Given the description of an element on the screen output the (x, y) to click on. 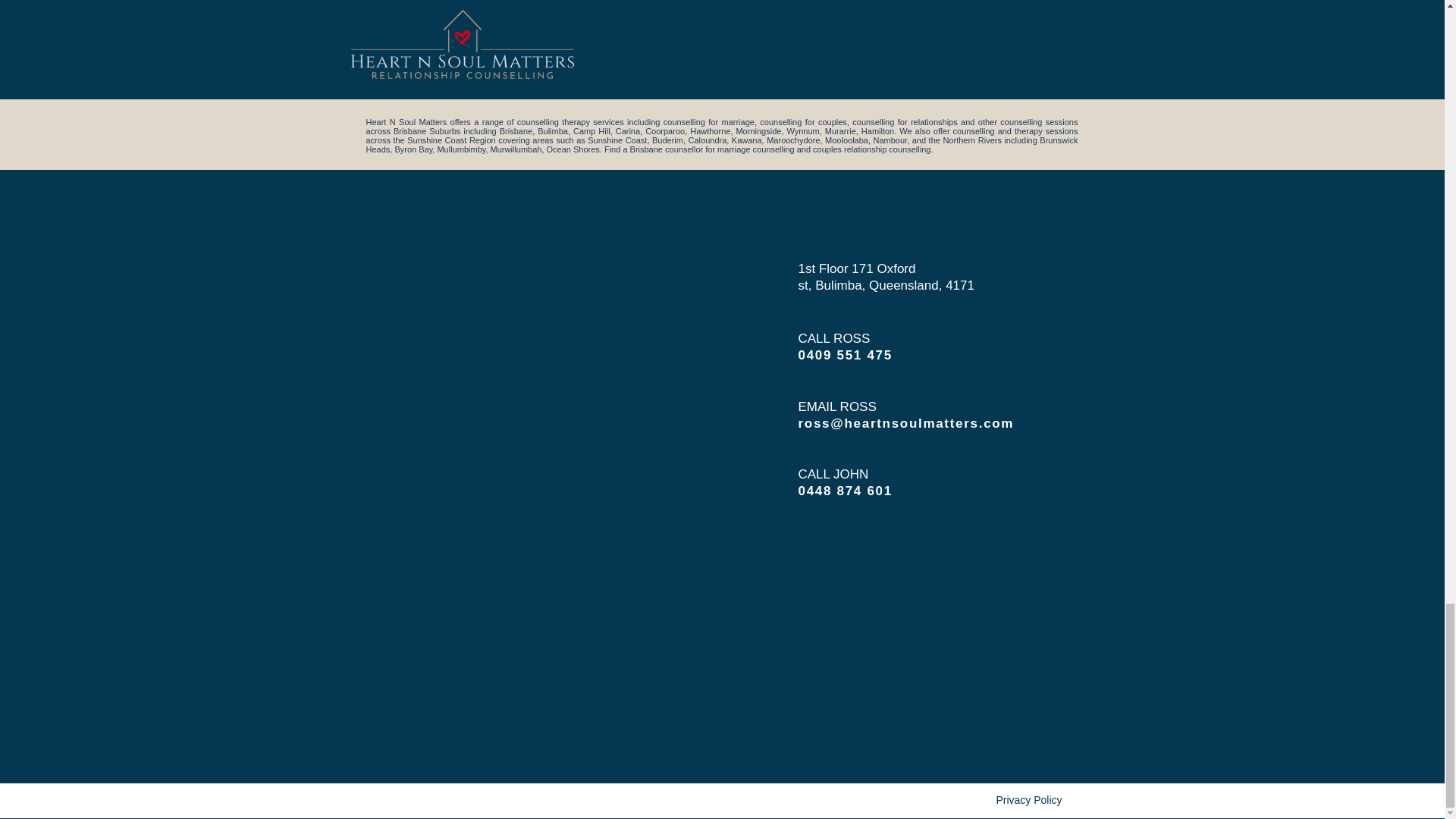
Privacy Policy (1028, 799)
0409 551 475 (844, 355)
0448 874 601 (844, 490)
